Given the description of an element on the screen output the (x, y) to click on. 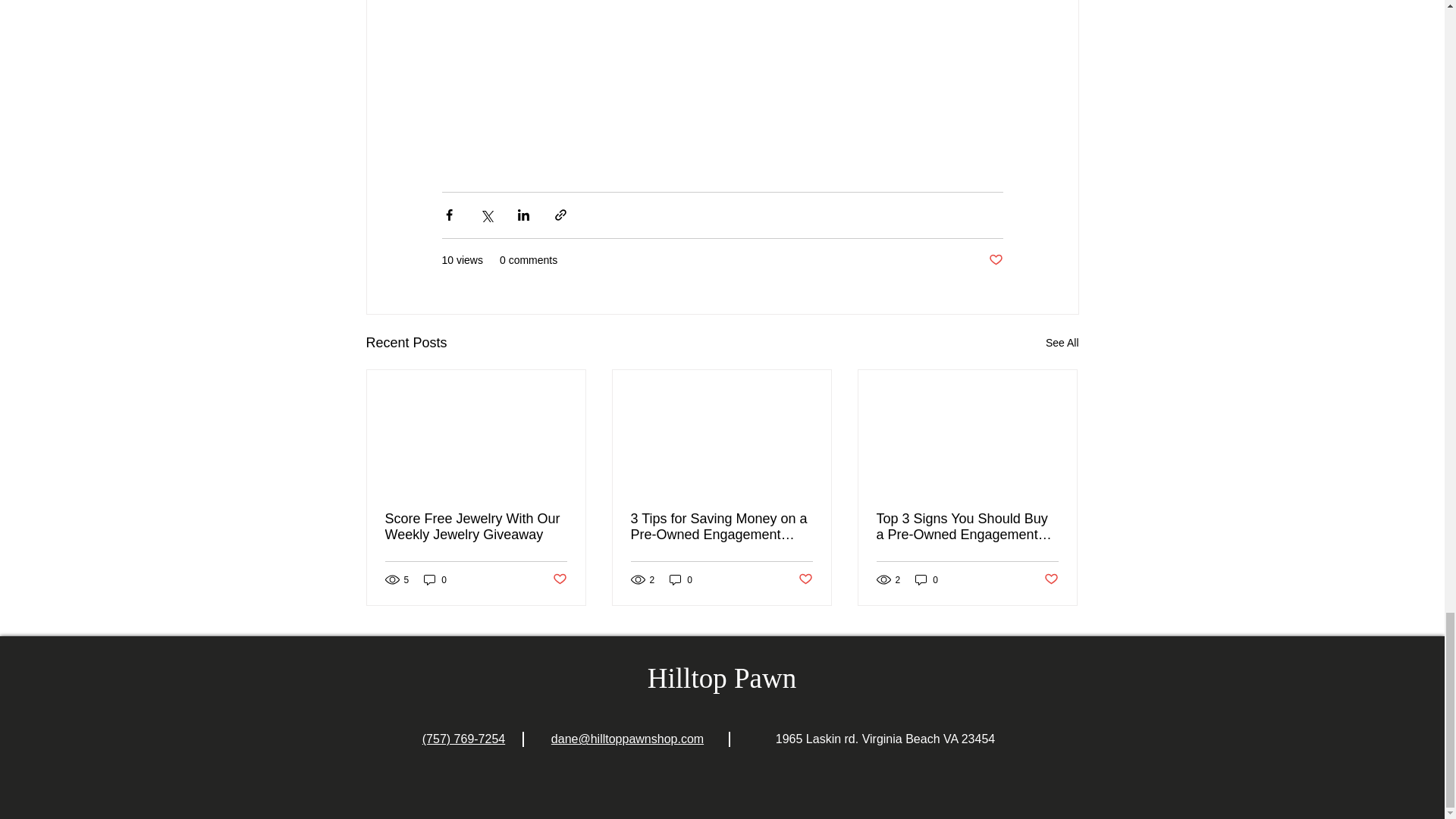
Post not marked as liked (558, 579)
0 (681, 579)
See All (1061, 342)
Top 3 Signs You Should Buy a Pre-Owned Engagement Ring (967, 526)
Score Free Jewelry With Our Weekly Jewelry Giveaway (476, 526)
Post not marked as liked (804, 579)
3 Tips for Saving Money on a Pre-Owned Engagement Ring (721, 526)
Post not marked as liked (1050, 579)
Post not marked as liked (995, 260)
0 (435, 579)
0 (926, 579)
